Given the description of an element on the screen output the (x, y) to click on. 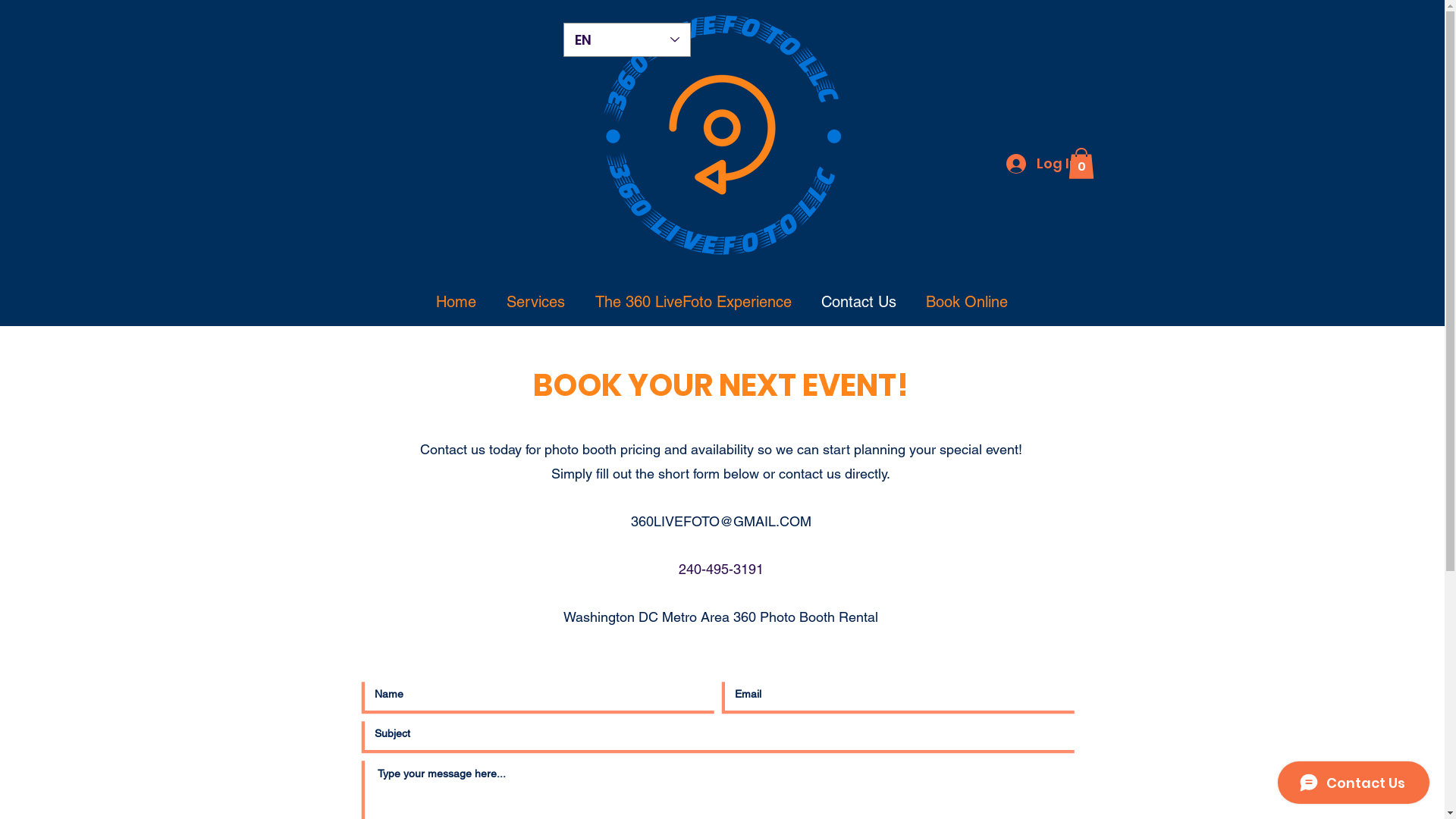
360LIVEFOTO@GMAIL.COM Element type: text (720, 520)
Book Online Element type: text (966, 301)
contact us Element type: text (809, 473)
Home Element type: text (455, 301)
The 360 LiveFoto Experience Element type: text (692, 301)
Log In Element type: text (1039, 163)
Services Element type: text (535, 301)
0 Element type: text (1080, 162)
Contact Us Element type: text (858, 301)
